Given the description of an element on the screen output the (x, y) to click on. 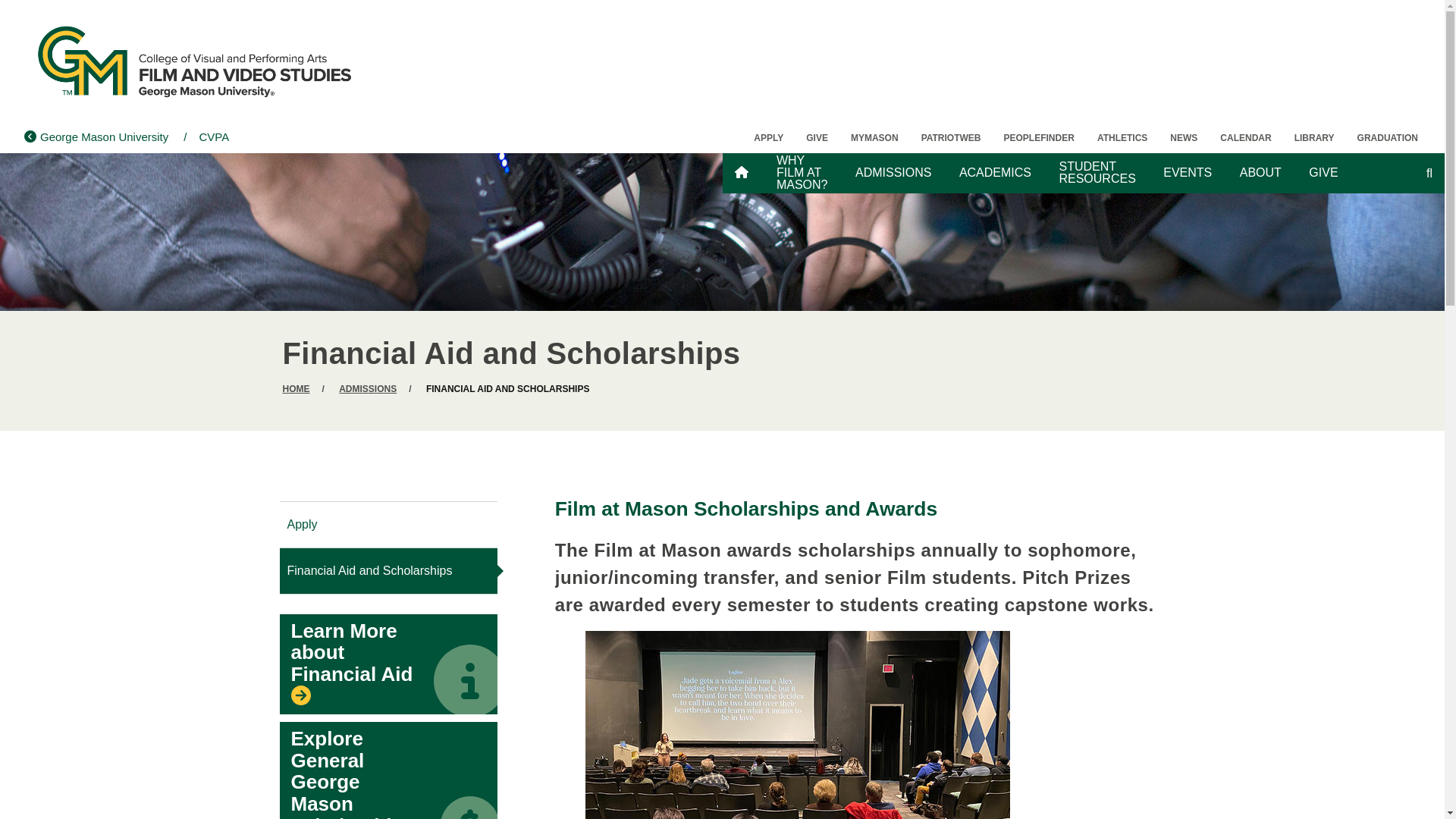
CALENDAR (1245, 137)
SEARCH (1399, 163)
APPLY (768, 137)
GRADUATION (1387, 137)
GIVE (817, 137)
Home (194, 60)
PEOPLEFINDER (1039, 137)
College of Visual and Performing Arts (210, 137)
WHY FILM AT MASON? (802, 173)
